Given the description of an element on the screen output the (x, y) to click on. 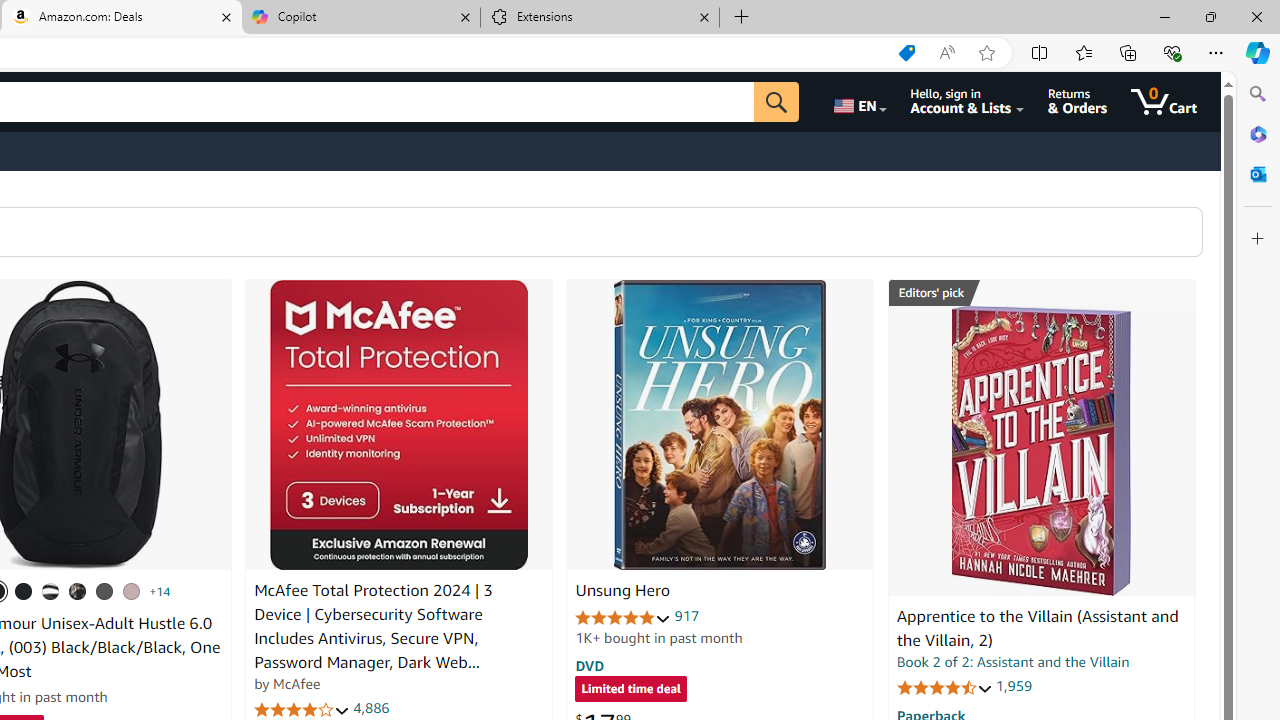
Limited time deal (630, 690)
